Given the description of an element on the screen output the (x, y) to click on. 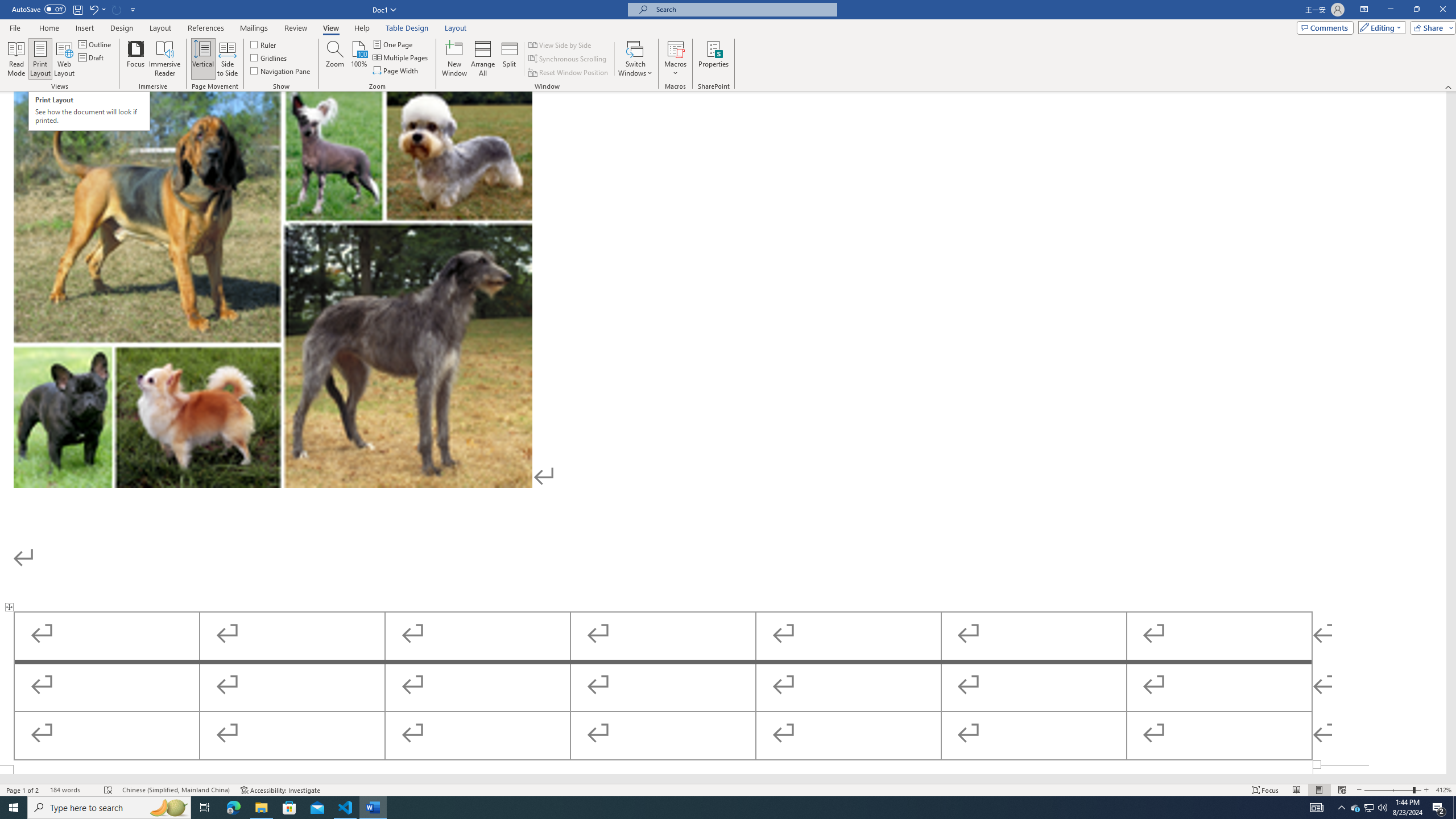
Reset Window Position (569, 72)
Draft (91, 56)
Page 1 content (89, 111)
Page Width (722, 427)
Word Count 184 words (396, 69)
Outline (71, 790)
